Given the description of an element on the screen output the (x, y) to click on. 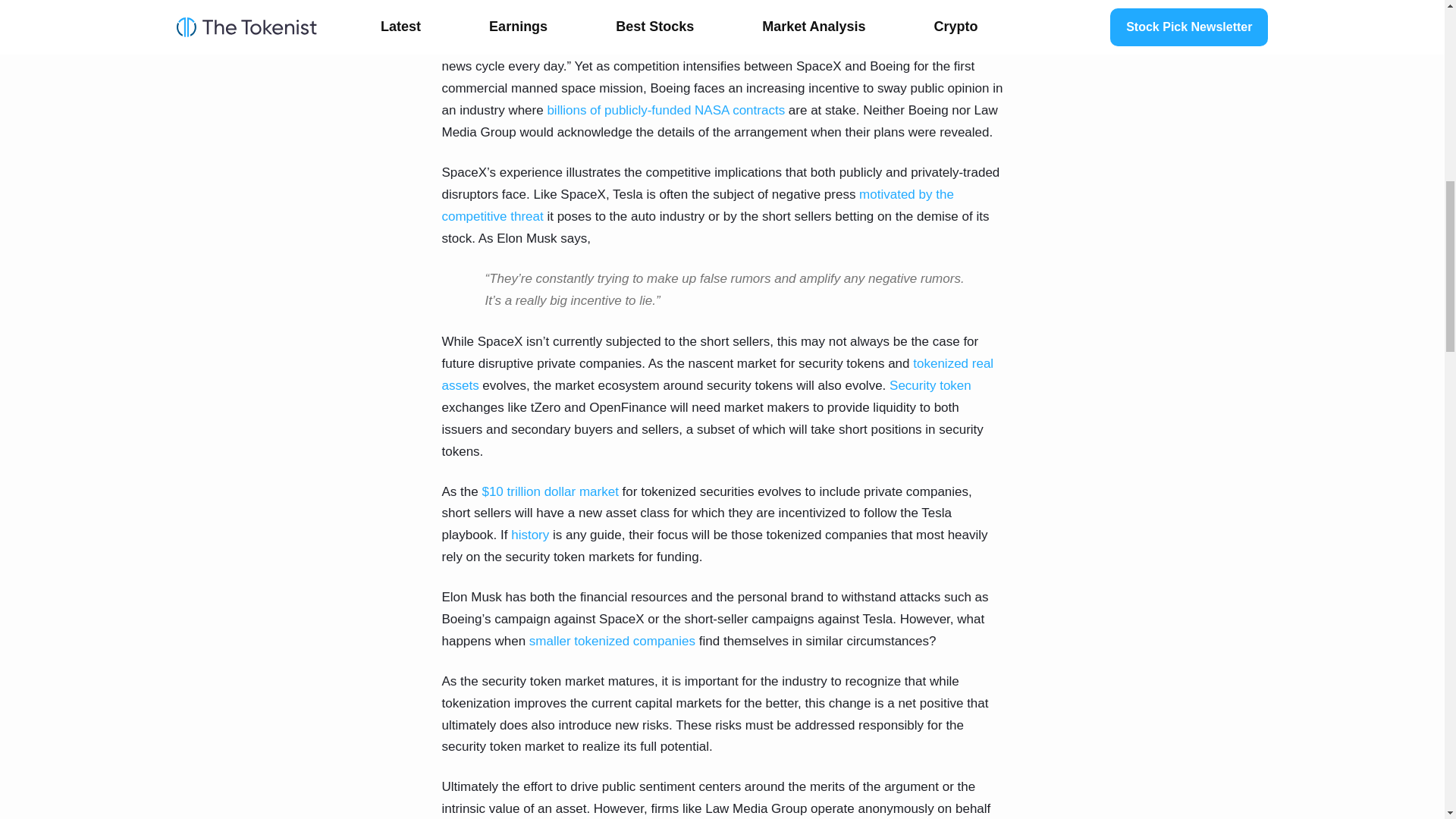
tokenized real assets (716, 374)
Security token (930, 385)
billions of publicly-funded NASA contracts (665, 110)
smaller tokenized companies (612, 640)
Eric Berger (882, 5)
motivated by the competitive threat (697, 205)
history (529, 534)
